Given the description of an element on the screen output the (x, y) to click on. 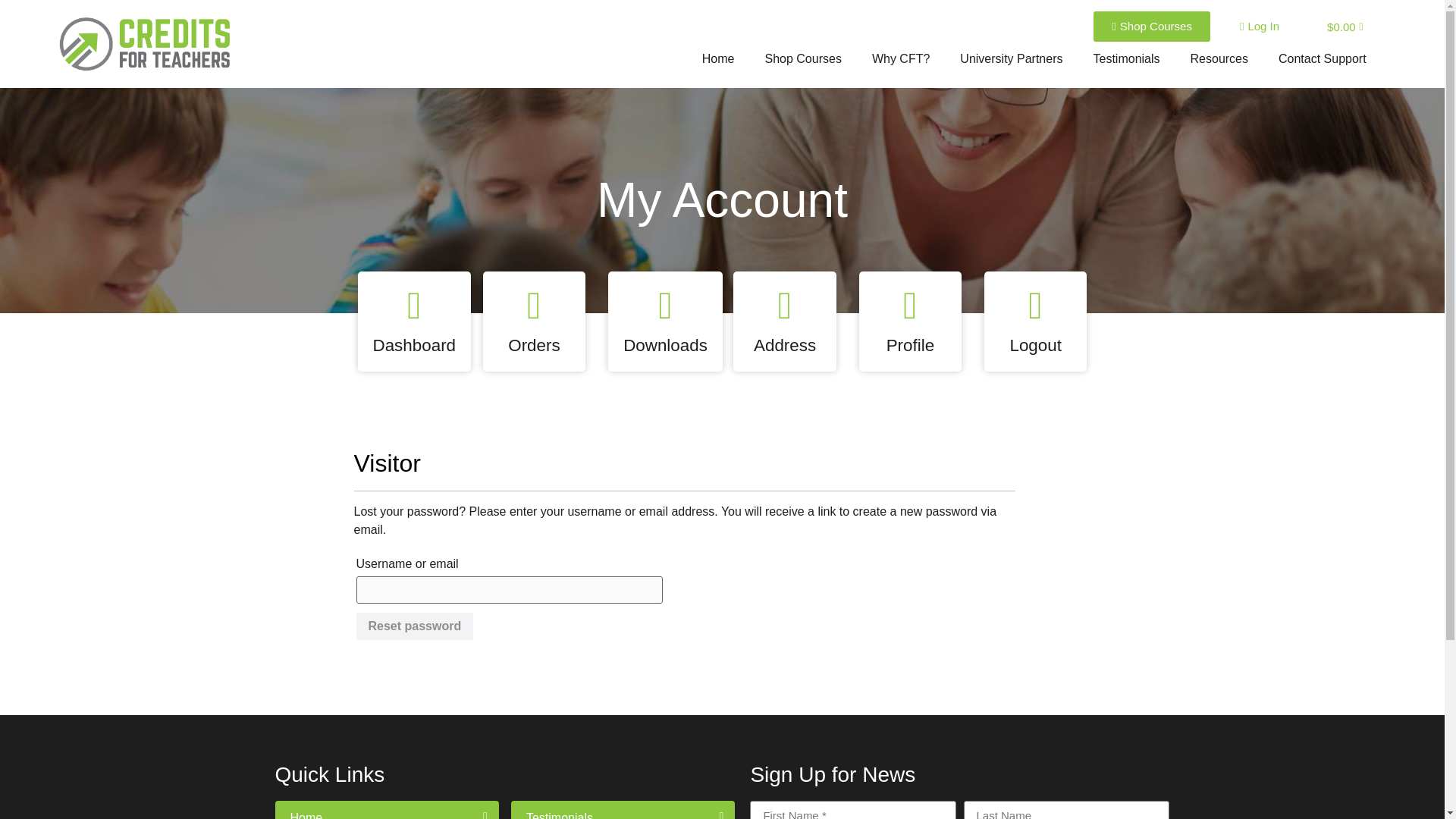
University Partners (1010, 58)
Testimonials (1126, 58)
Home (718, 58)
Log In (1259, 26)
Shop Courses (1151, 26)
Shop Courses (802, 58)
Resources (1218, 58)
Contact Support (1322, 58)
Why CFT? (900, 58)
